Given the description of an element on the screen output the (x, y) to click on. 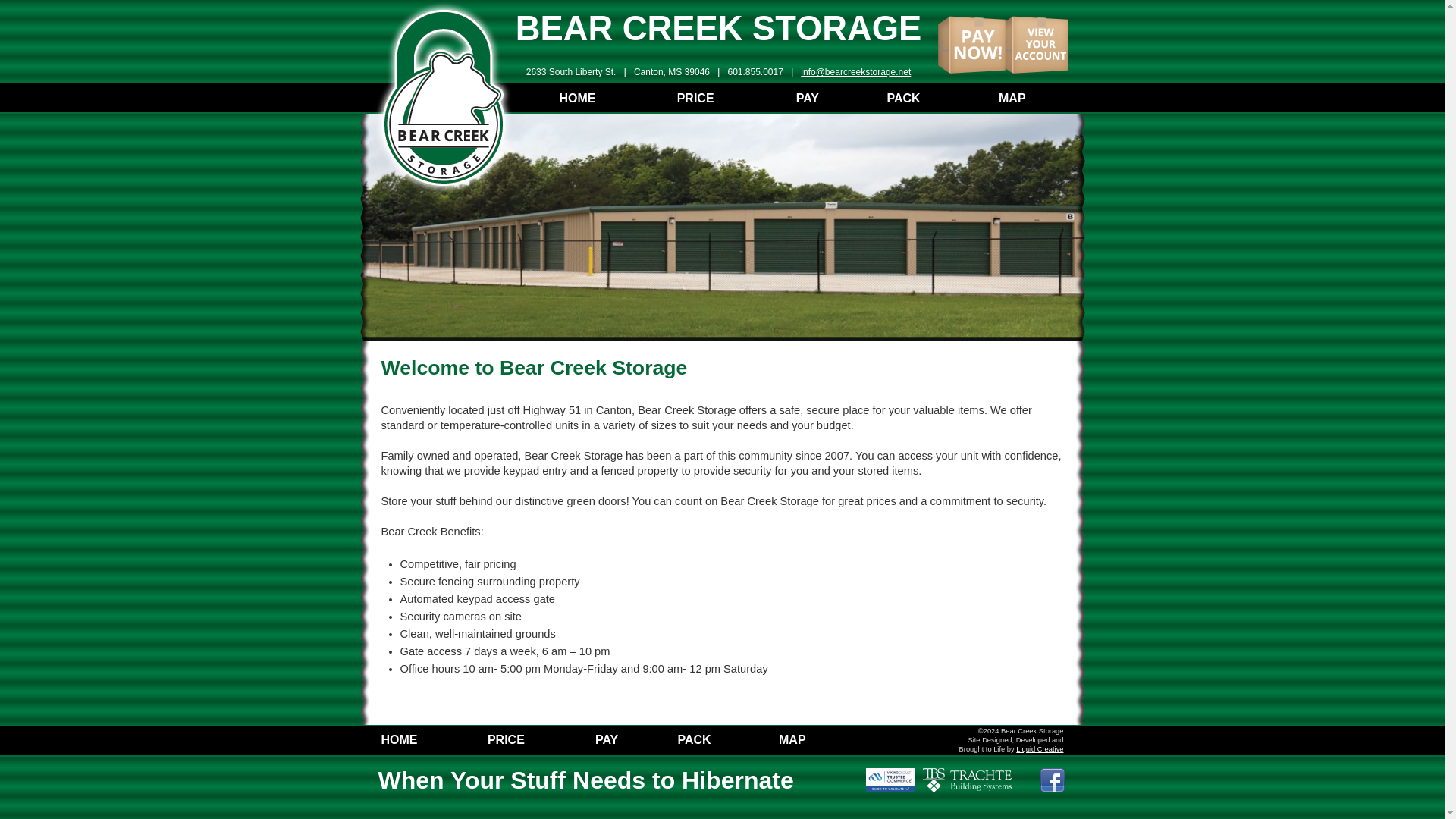
HOME (577, 97)
HOME (398, 739)
MAP (1012, 97)
PAY (606, 739)
PRICE (695, 97)
PACK (903, 97)
PRICE (505, 739)
Liquid Creative (1039, 748)
MAP (792, 739)
PAY (807, 97)
PACK (693, 739)
